Given the description of an element on the screen output the (x, y) to click on. 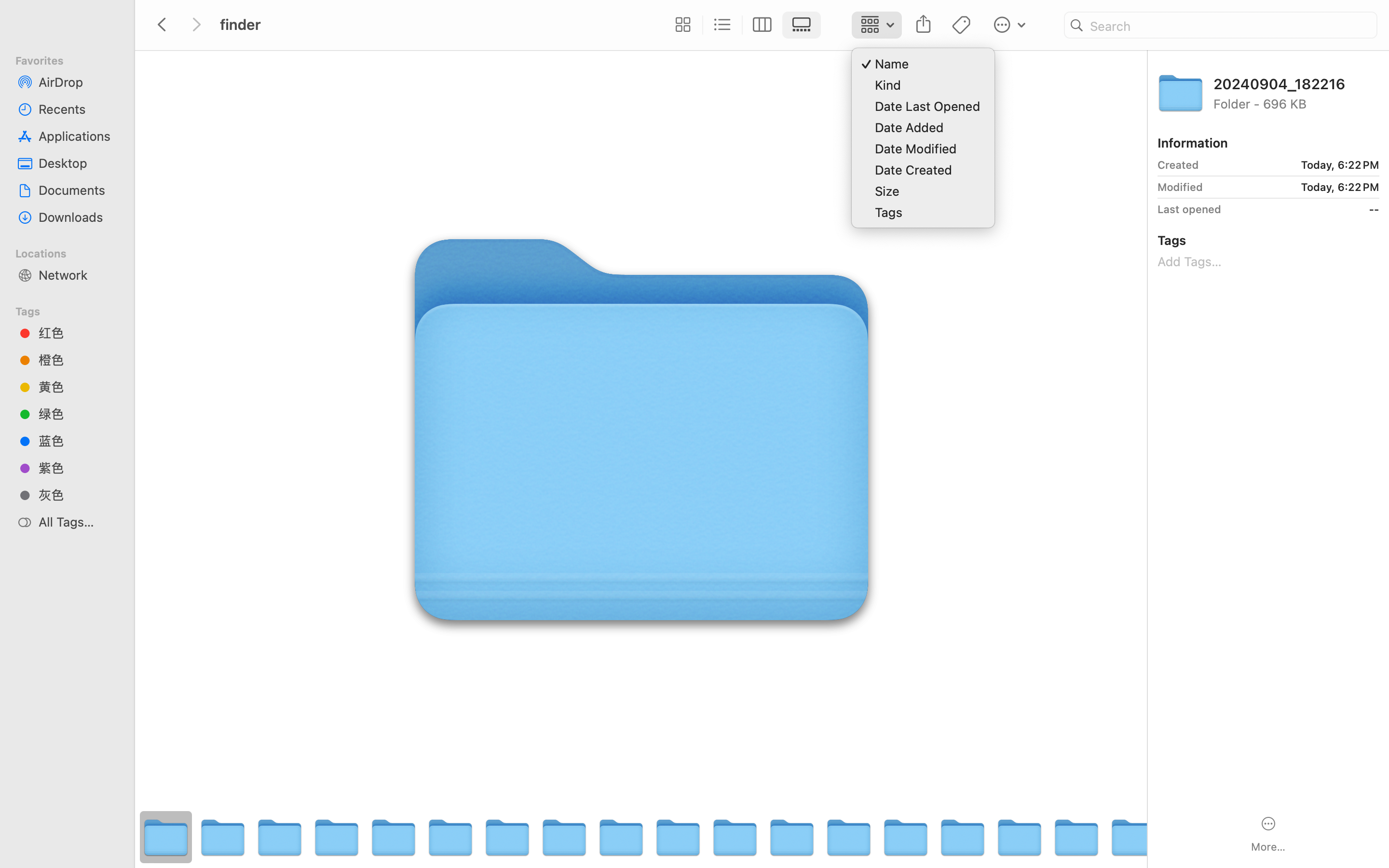
Created Element type: AXStaticText (1177, 164)
Modified Element type: AXStaticText (1179, 186)
Desktop Element type: AXStaticText (77, 162)
Today, 6:22 PM Element type: AXStaticText (1292, 164)
Last opened Element type: AXStaticText (1189, 209)
